Given the description of an element on the screen output the (x, y) to click on. 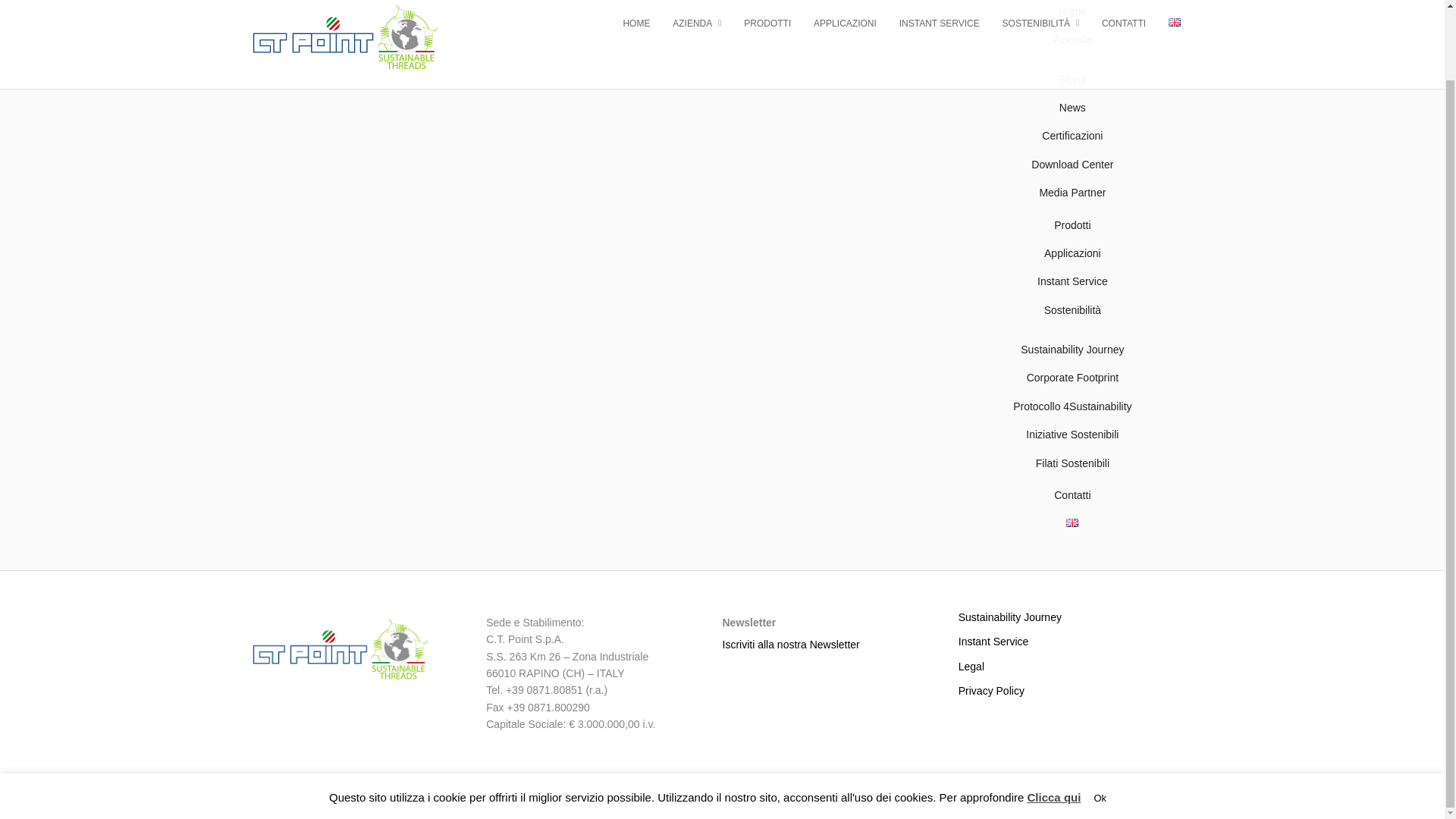
English (1071, 522)
